Given the description of an element on the screen output the (x, y) to click on. 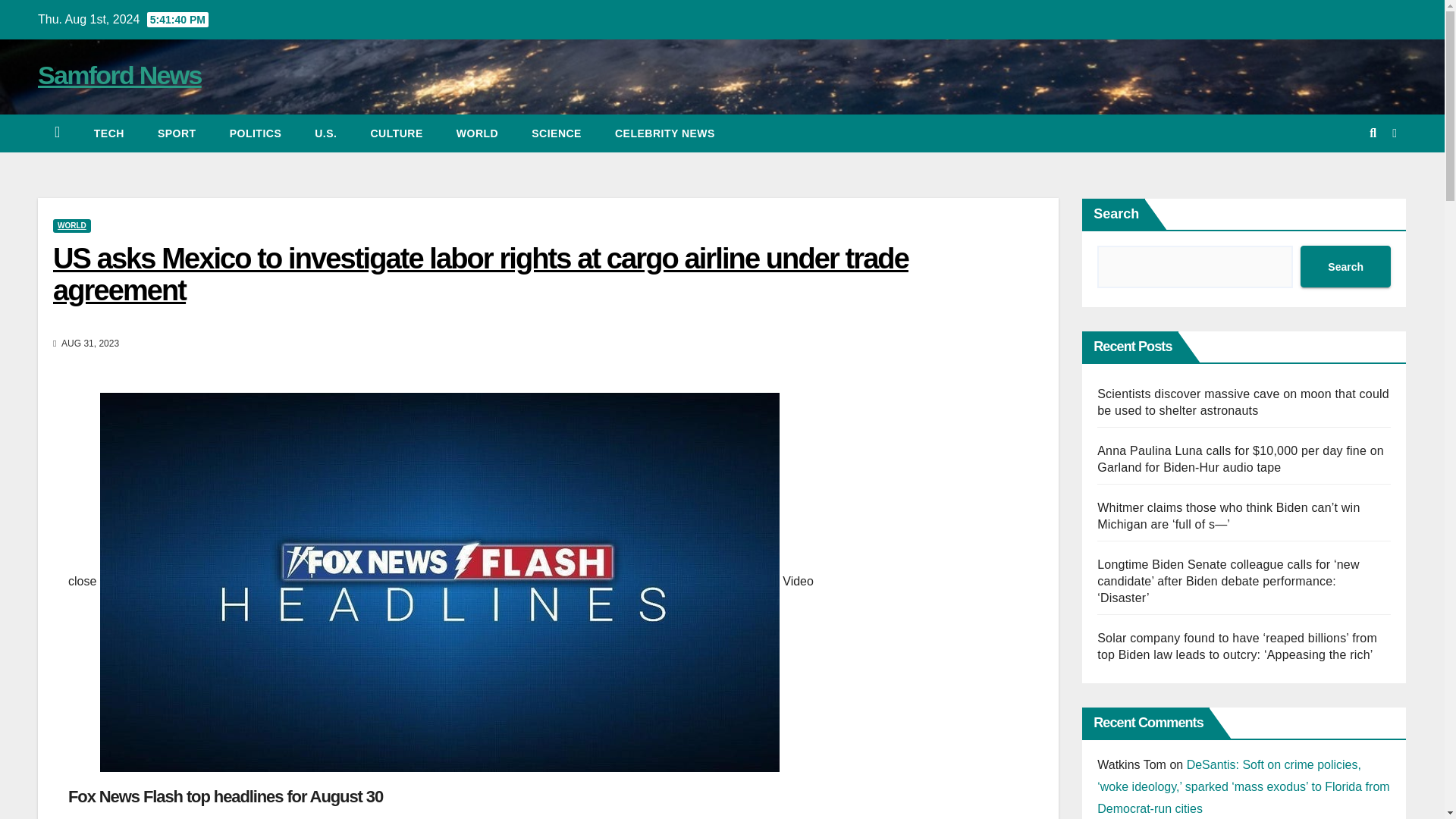
CELEBRITY NEWS (665, 133)
TECH (109, 133)
U.S. (325, 133)
Sport (176, 133)
U.S. (325, 133)
Search (1345, 266)
WORLD (477, 133)
SCIENCE (556, 133)
Samford News (119, 74)
Politics (255, 133)
Culture (396, 133)
Tech (109, 133)
Celebrity News (665, 133)
